Given the description of an element on the screen output the (x, y) to click on. 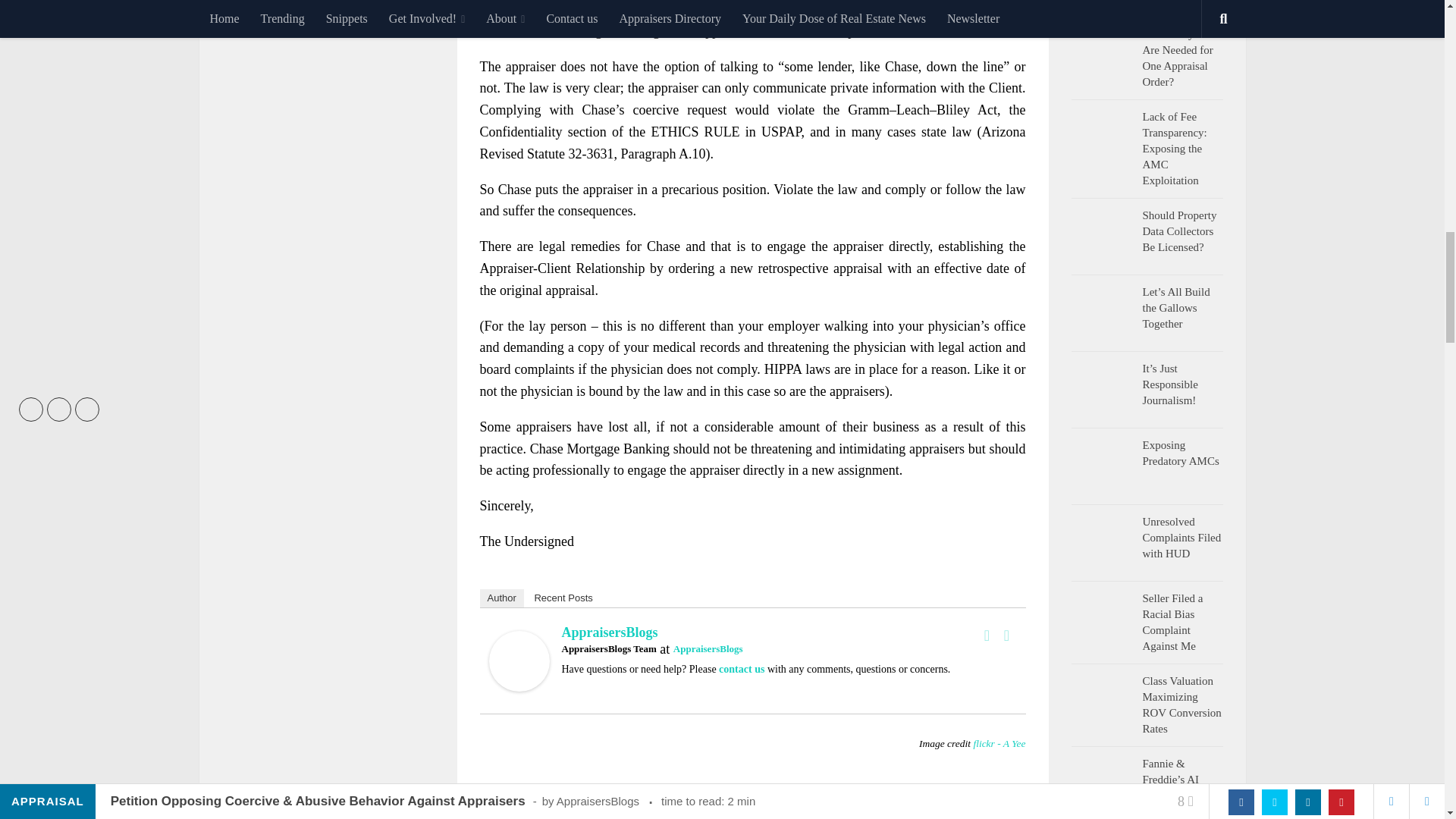
AppraisersBlogs (609, 631)
Recent Posts (562, 597)
Author (500, 597)
AppraisersBlogs (707, 648)
